Given the description of an element on the screen output the (x, y) to click on. 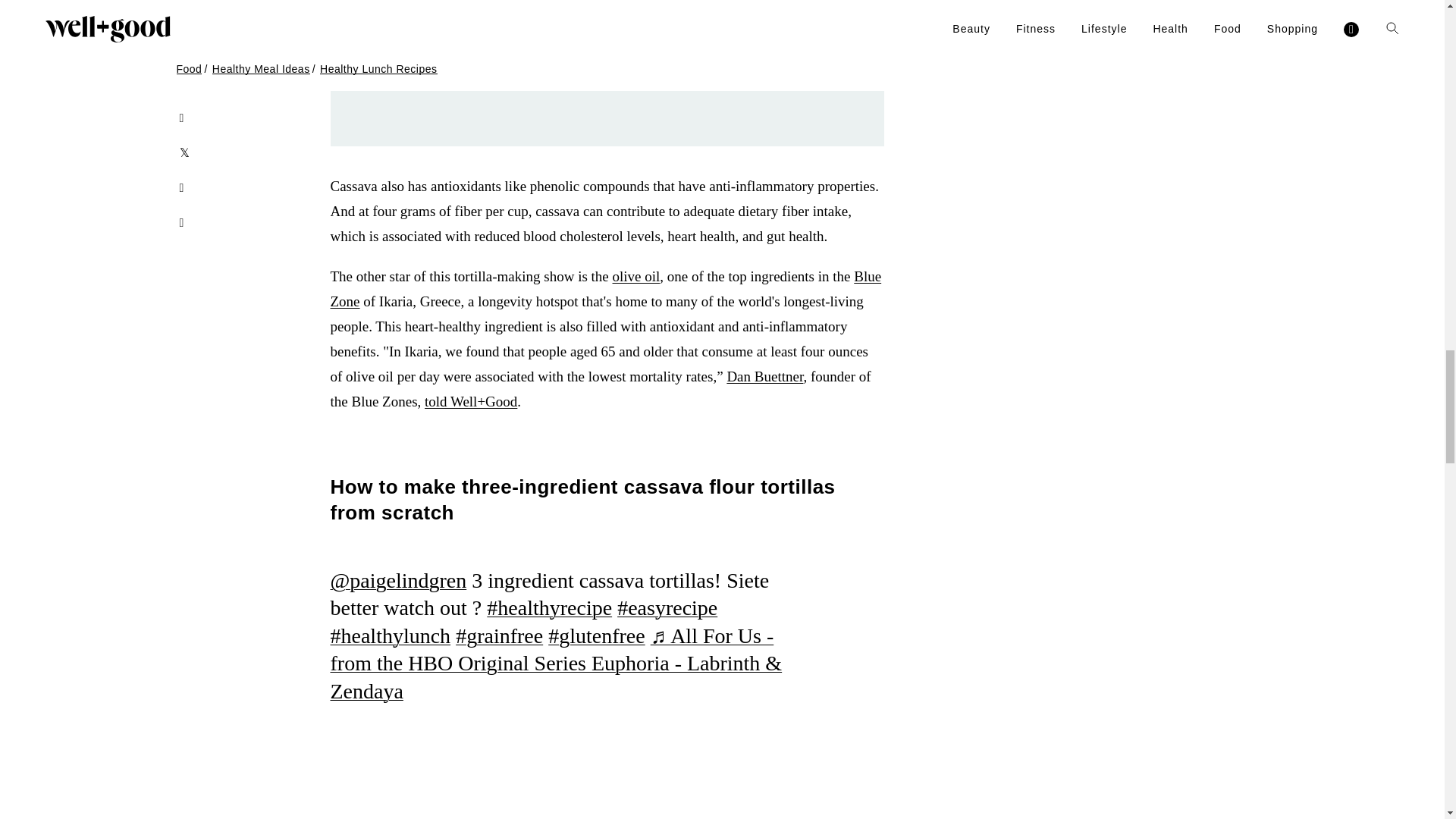
grainfree (499, 635)
glutenfree (596, 635)
easyrecipe (667, 607)
healthylunch (390, 635)
healthyrecipe (548, 607)
